Given the description of an element on the screen output the (x, y) to click on. 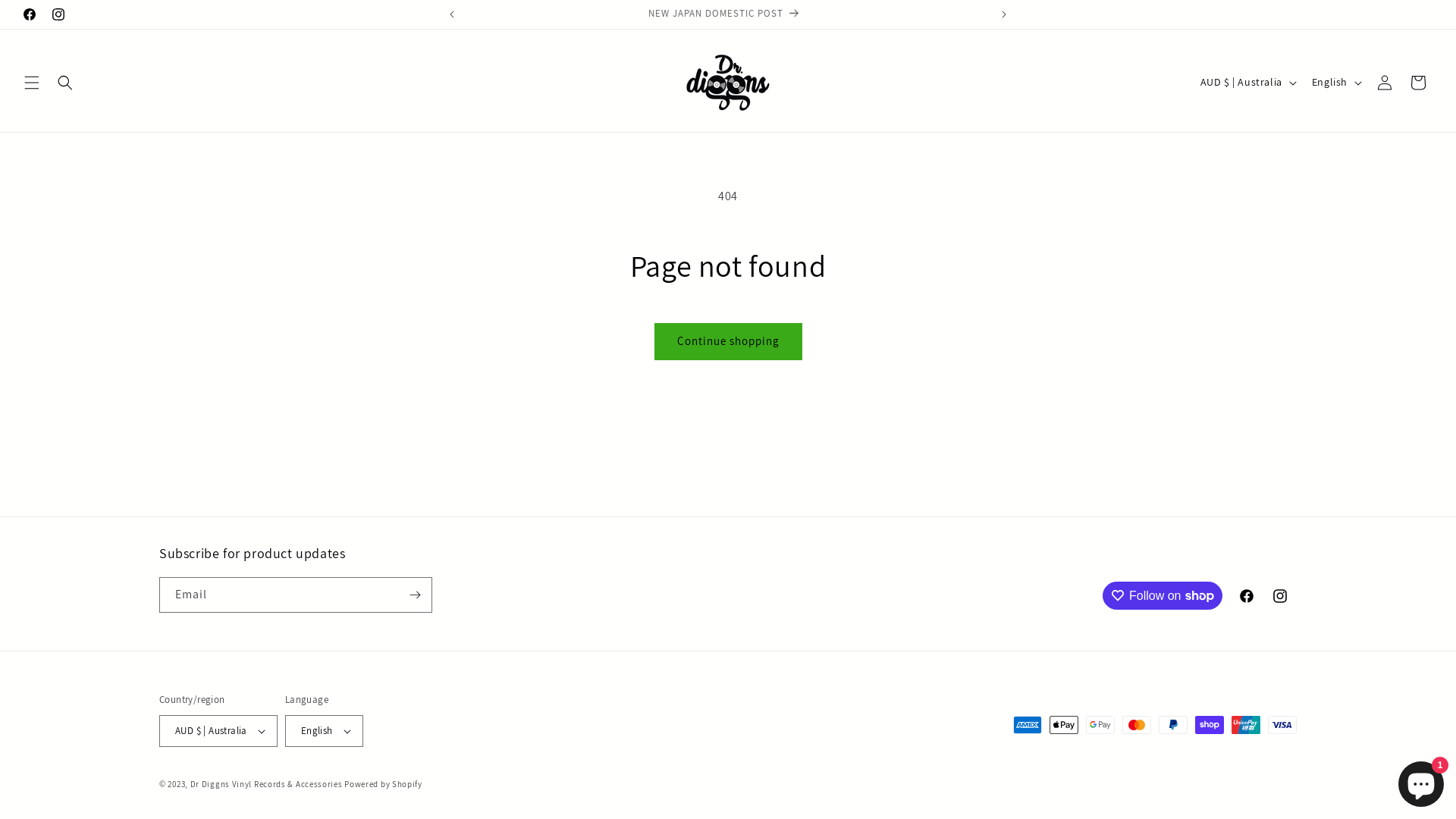
Instagram Element type: text (57, 14)
AUD $ | Australia Element type: text (1246, 82)
Shopify online store chat Element type: hover (1420, 780)
Facebook Element type: text (29, 14)
English Element type: text (1335, 82)
Log in Element type: text (1384, 81)
Powered by Shopify Element type: text (383, 783)
Instagram Element type: text (1279, 595)
Continue shopping Element type: text (727, 341)
AUD $ | Australia Element type: text (218, 730)
English Element type: text (324, 730)
Dr Diggns Vinyl Records & Accessories Element type: text (266, 783)
Cart Element type: text (1417, 81)
Facebook Element type: text (1246, 595)
